Given the description of an element on the screen output the (x, y) to click on. 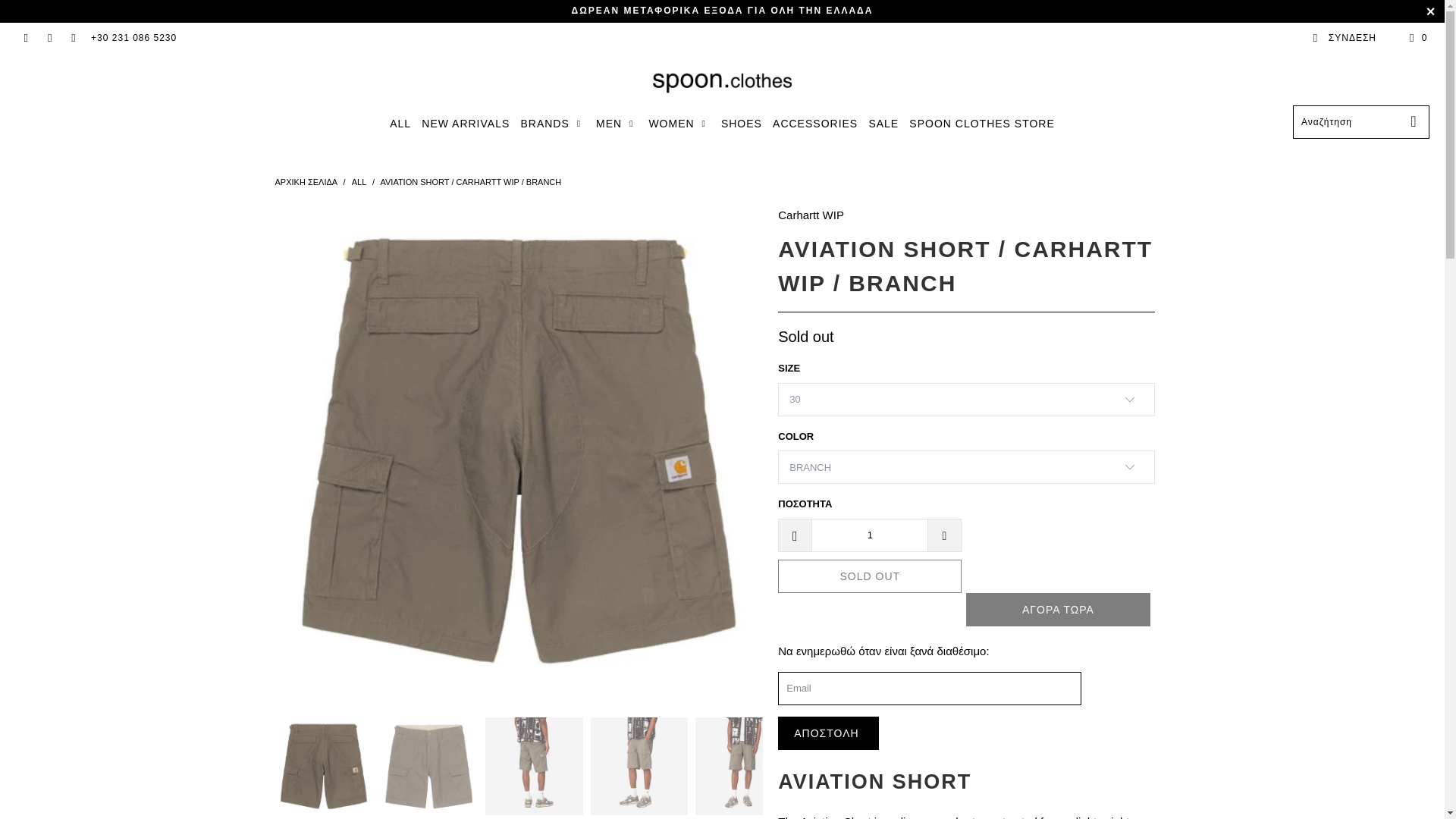
Email Spoon Clothes (73, 37)
Spoon Clothes on Facebook (25, 37)
Spoon Clothes on Instagram (48, 37)
Carhartt WIP (810, 214)
All (359, 181)
1 (869, 535)
Spoon Clothes (722, 82)
Spoon Clothes (305, 181)
